Given the description of an element on the screen output the (x, y) to click on. 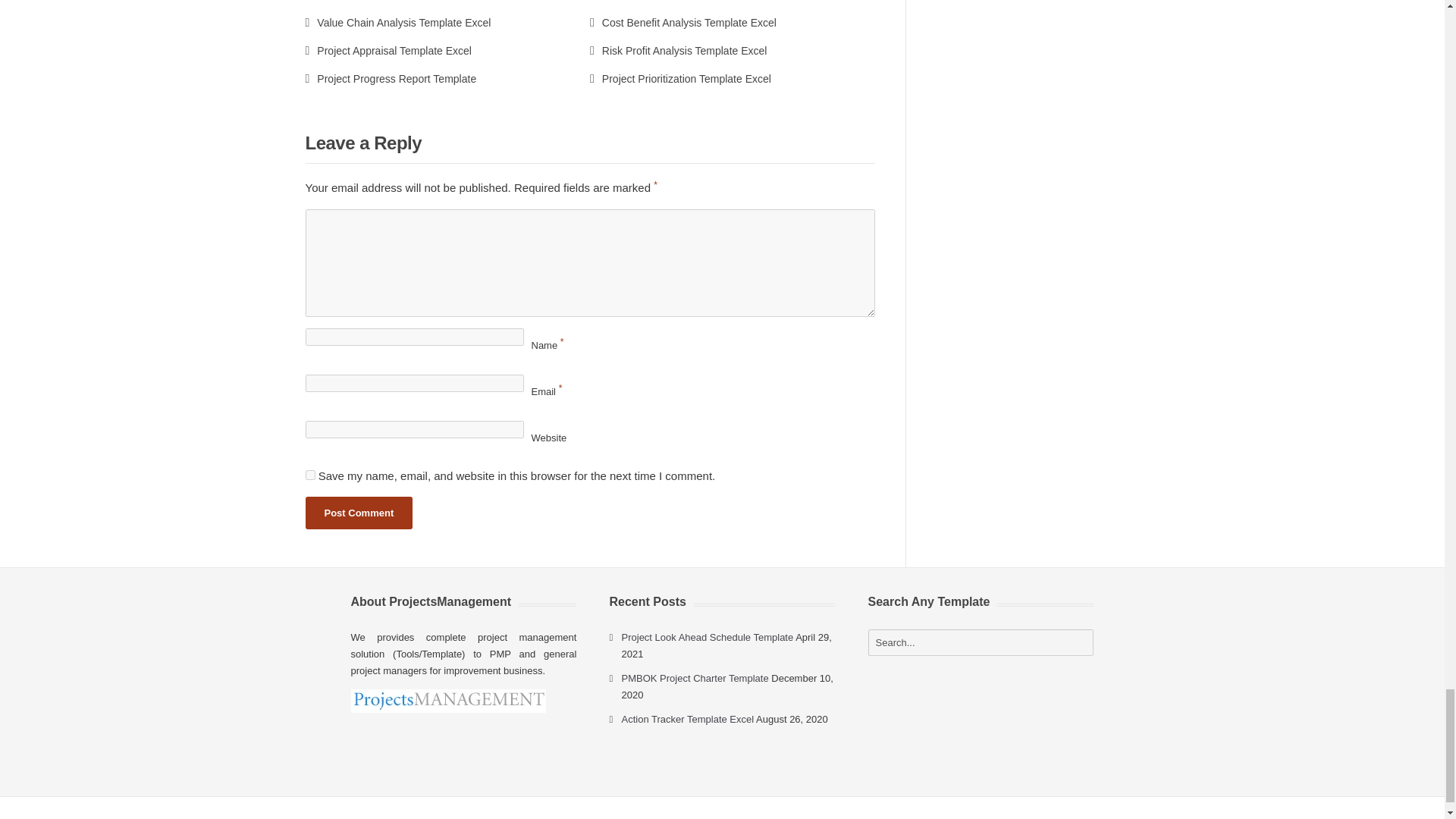
Project Appraisal Template Excel (387, 50)
Cost Benefit Analysis Template Excel (682, 22)
Search... (980, 642)
Project Progress Report Template (390, 78)
Project Prioritization Template Excel (680, 78)
Value Chain Analysis Template Excel (397, 22)
yes (309, 474)
Post Comment (358, 512)
Risk Profit Analysis Template Excel (678, 50)
